Given the description of an element on the screen output the (x, y) to click on. 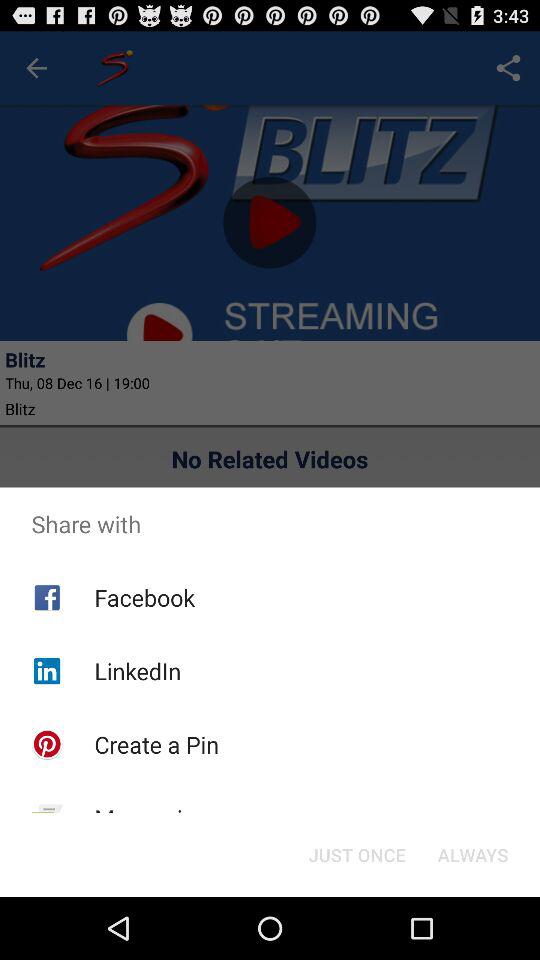
click the button to the right of just once button (472, 854)
